Given the description of an element on the screen output the (x, y) to click on. 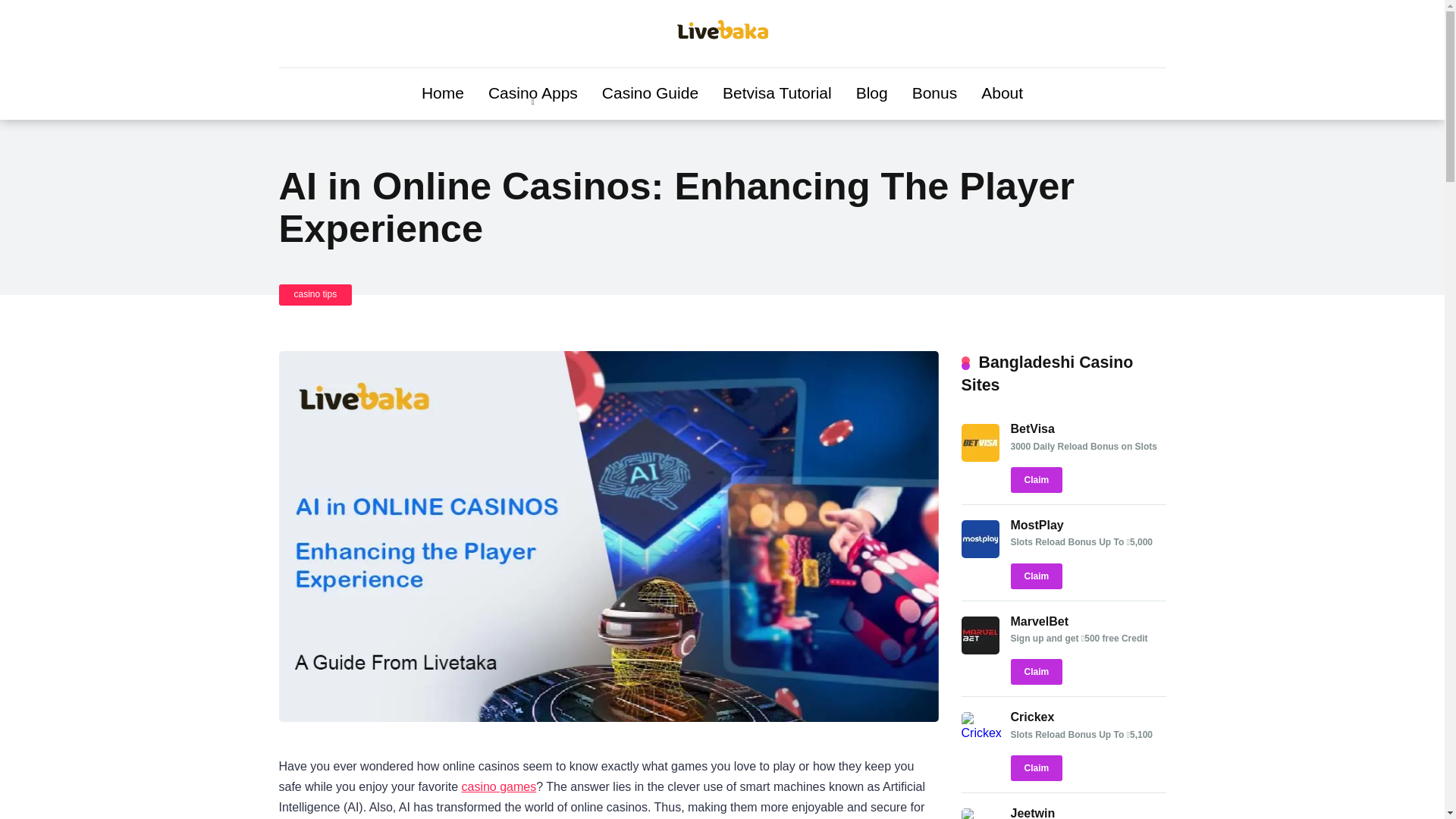
Livetaka (721, 35)
Bonus (934, 93)
Casino Guide (649, 93)
Blog (871, 93)
Casino Apps (532, 93)
Home (442, 93)
casino games (499, 786)
MostPlay (979, 553)
BetVisa (979, 457)
About (1002, 93)
